Given the description of an element on the screen output the (x, y) to click on. 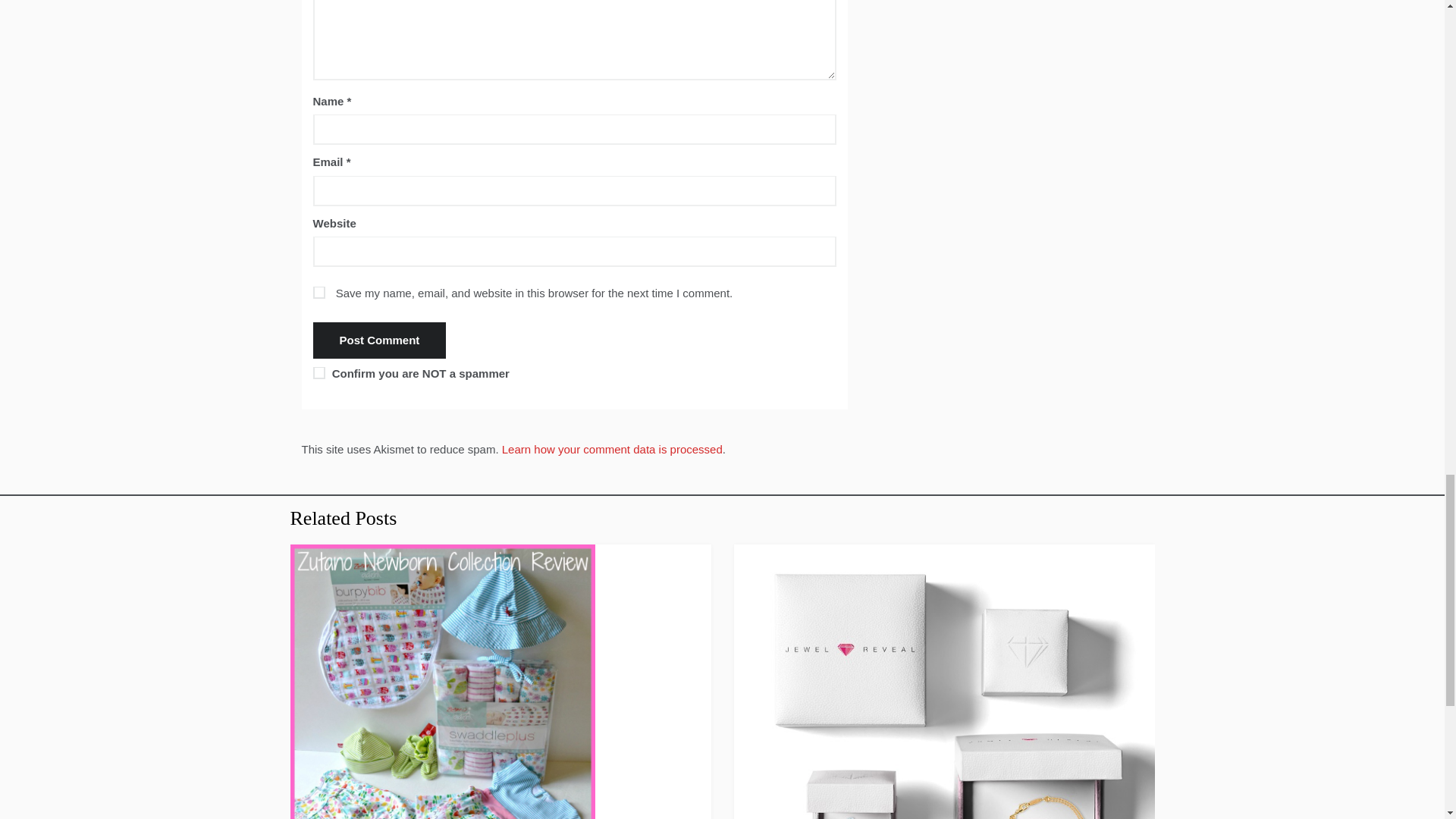
Post Comment (379, 340)
yes (318, 292)
Learn how your comment data is processed (612, 449)
on (318, 372)
Post Comment (379, 340)
